Given the description of an element on the screen output the (x, y) to click on. 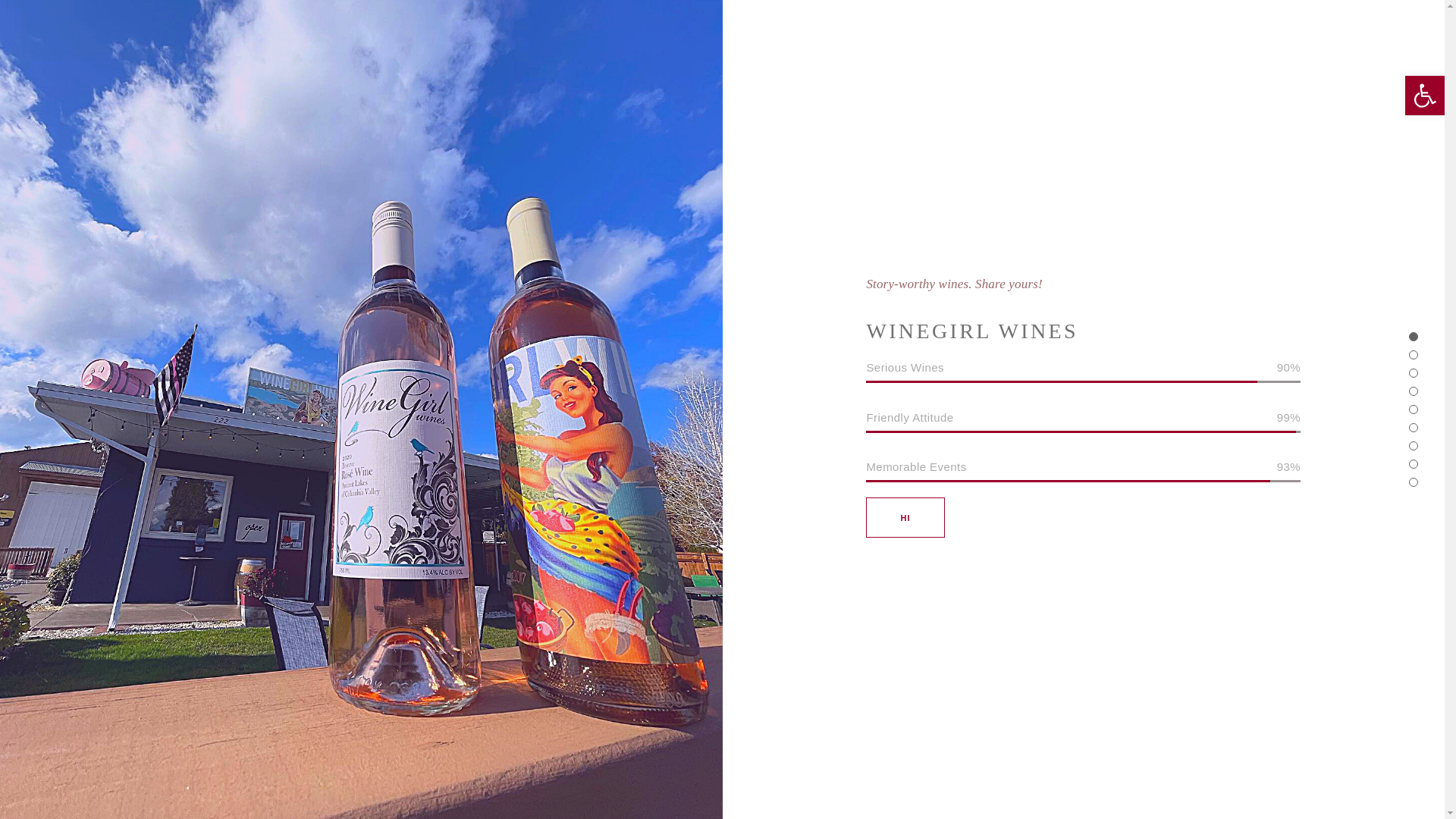
HI (904, 517)
Accessibility Tools (1424, 95)
